Given the description of an element on the screen output the (x, y) to click on. 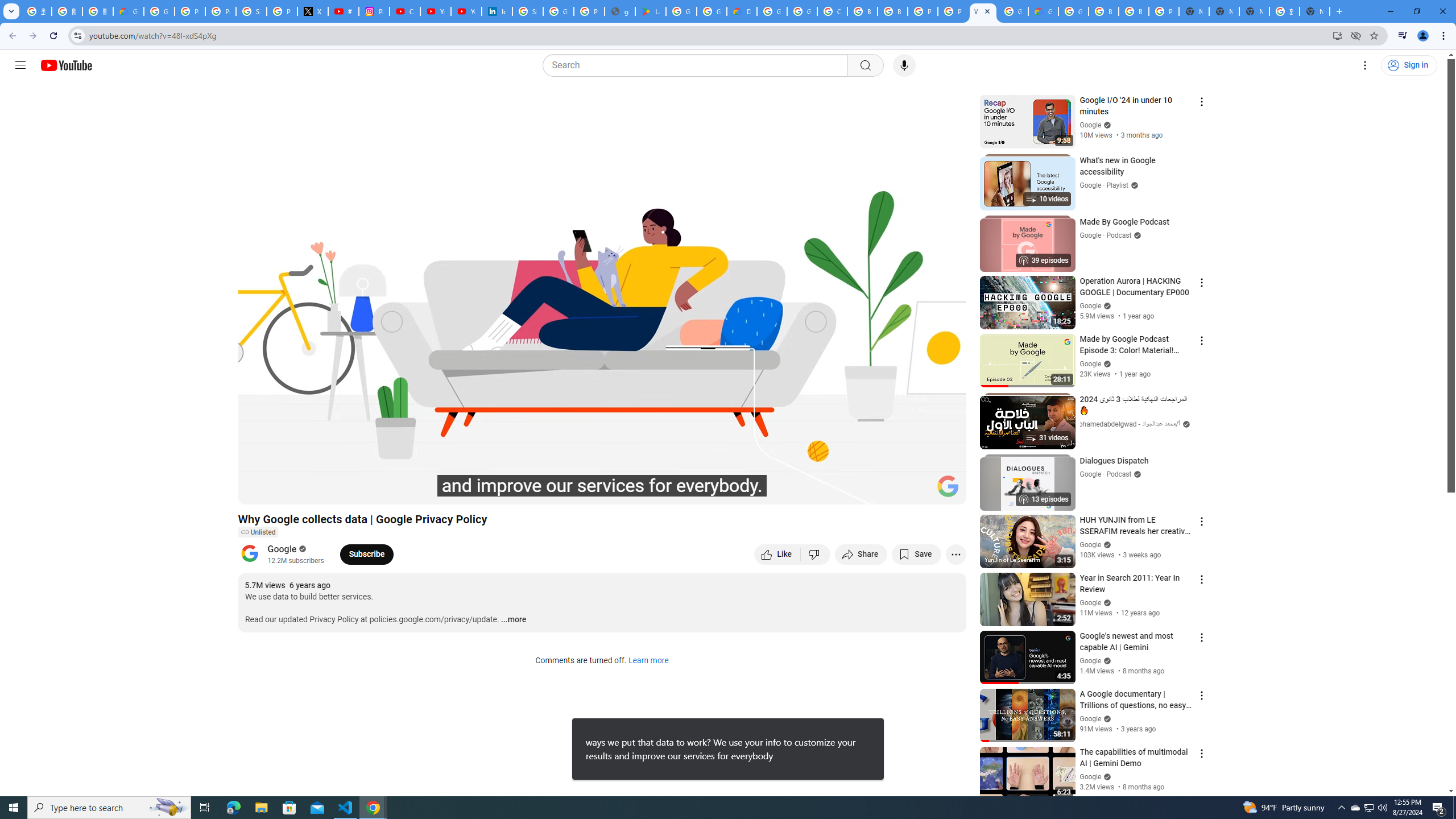
Like (777, 554)
Browse Chrome as a guest - Computer - Google Chrome Help (1103, 11)
Miniplayer (i) (890, 490)
Last Shelter: Survival - Apps on Google Play (650, 11)
Subscribe to Google. (366, 554)
Learn more (647, 661)
